Given the description of an element on the screen output the (x, y) to click on. 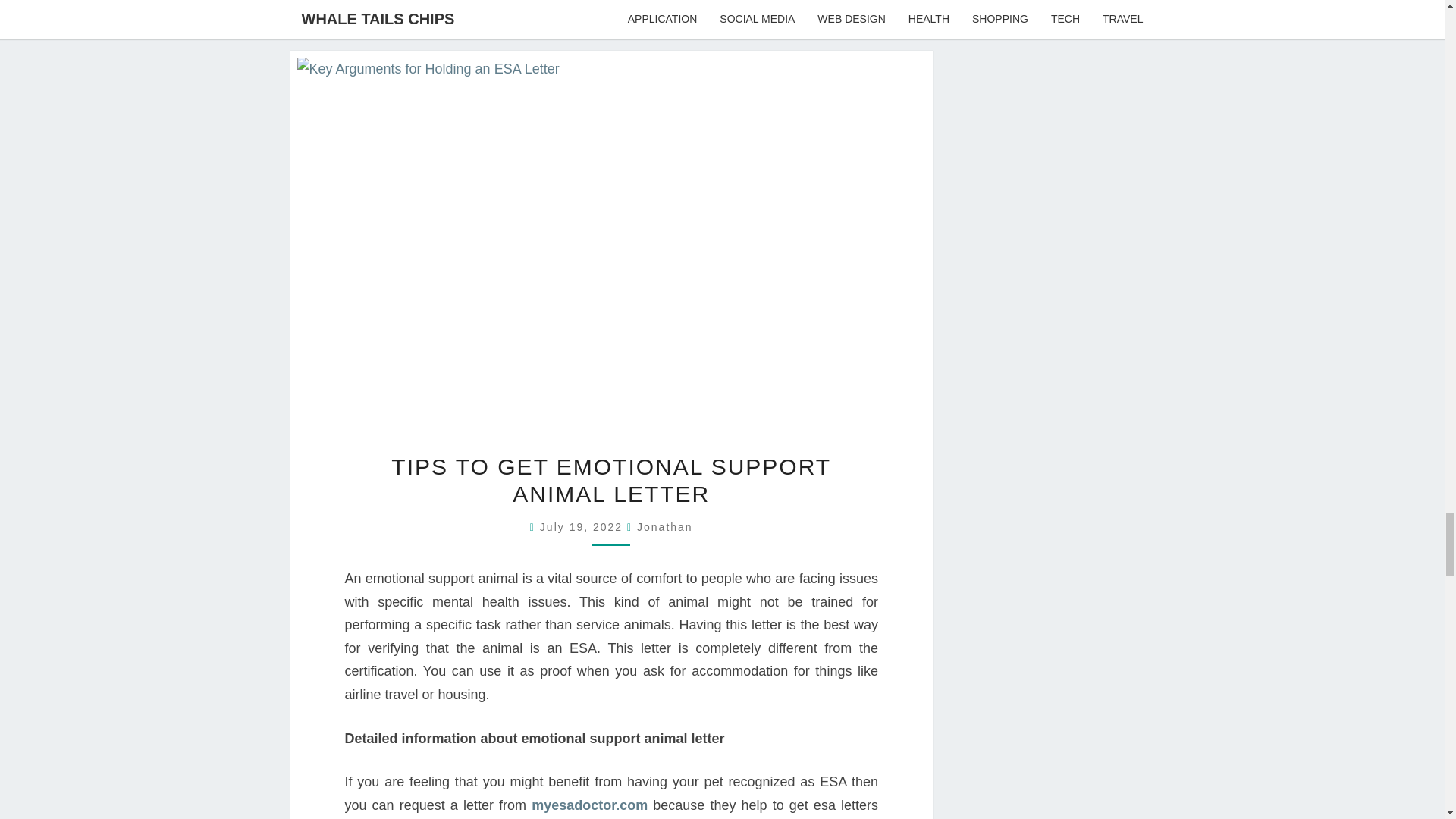
myesadoctor.com (589, 805)
6:55 am (583, 526)
Jonathan (665, 526)
July 19, 2022 (583, 526)
TIPS TO GET EMOTIONAL SUPPORT ANIMAL LETTER (611, 480)
View all posts by Jonathan (665, 526)
